Given the description of an element on the screen output the (x, y) to click on. 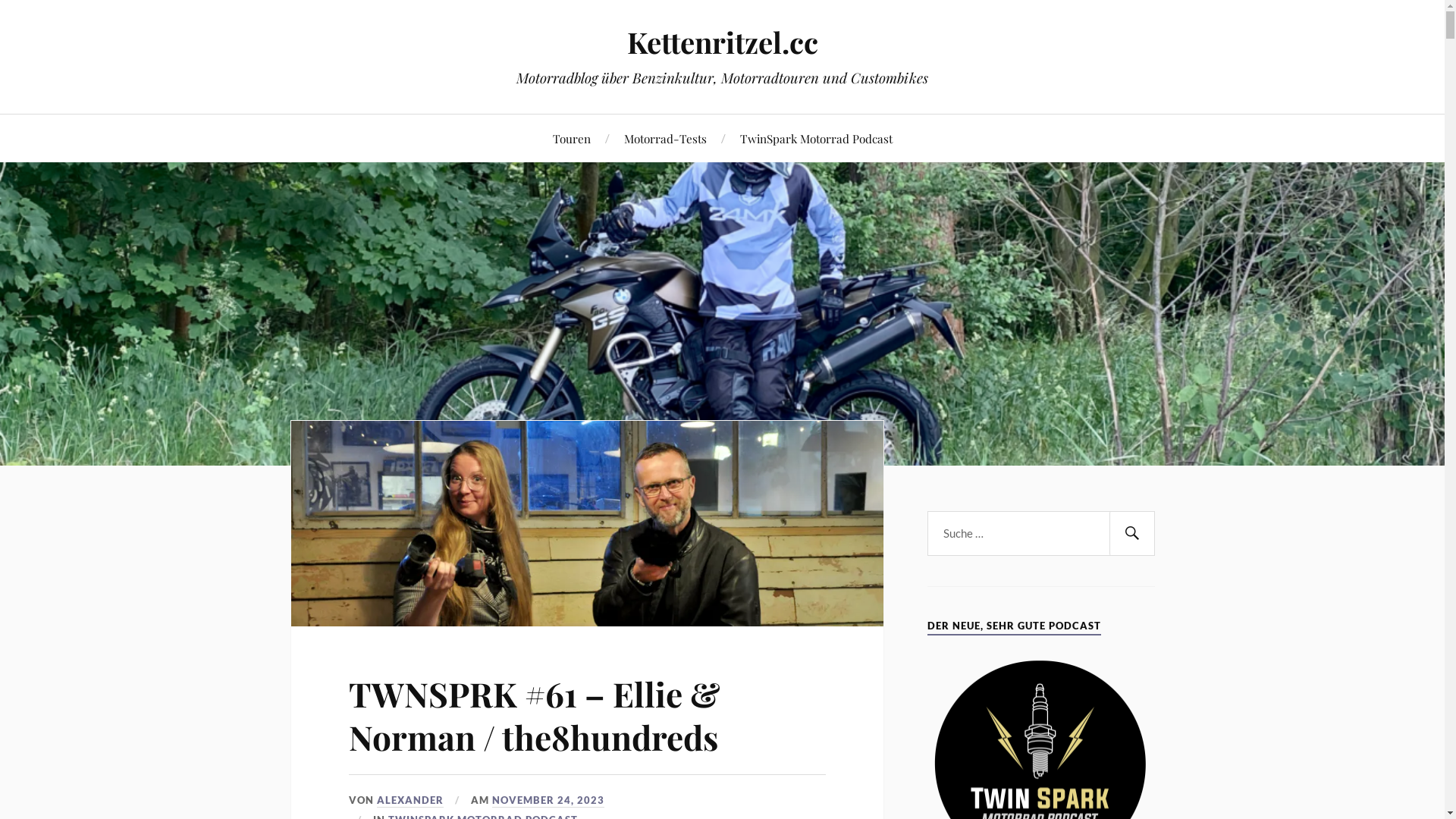
Motorrad-Tests Element type: text (664, 137)
NOVEMBER 24, 2023 Element type: text (548, 799)
Kettenritzel.cc Element type: text (721, 41)
Touren Element type: text (570, 137)
TwinSpark Motorrad Podcast Element type: text (816, 137)
ALEXANDER Element type: text (409, 799)
